Given the description of an element on the screen output the (x, y) to click on. 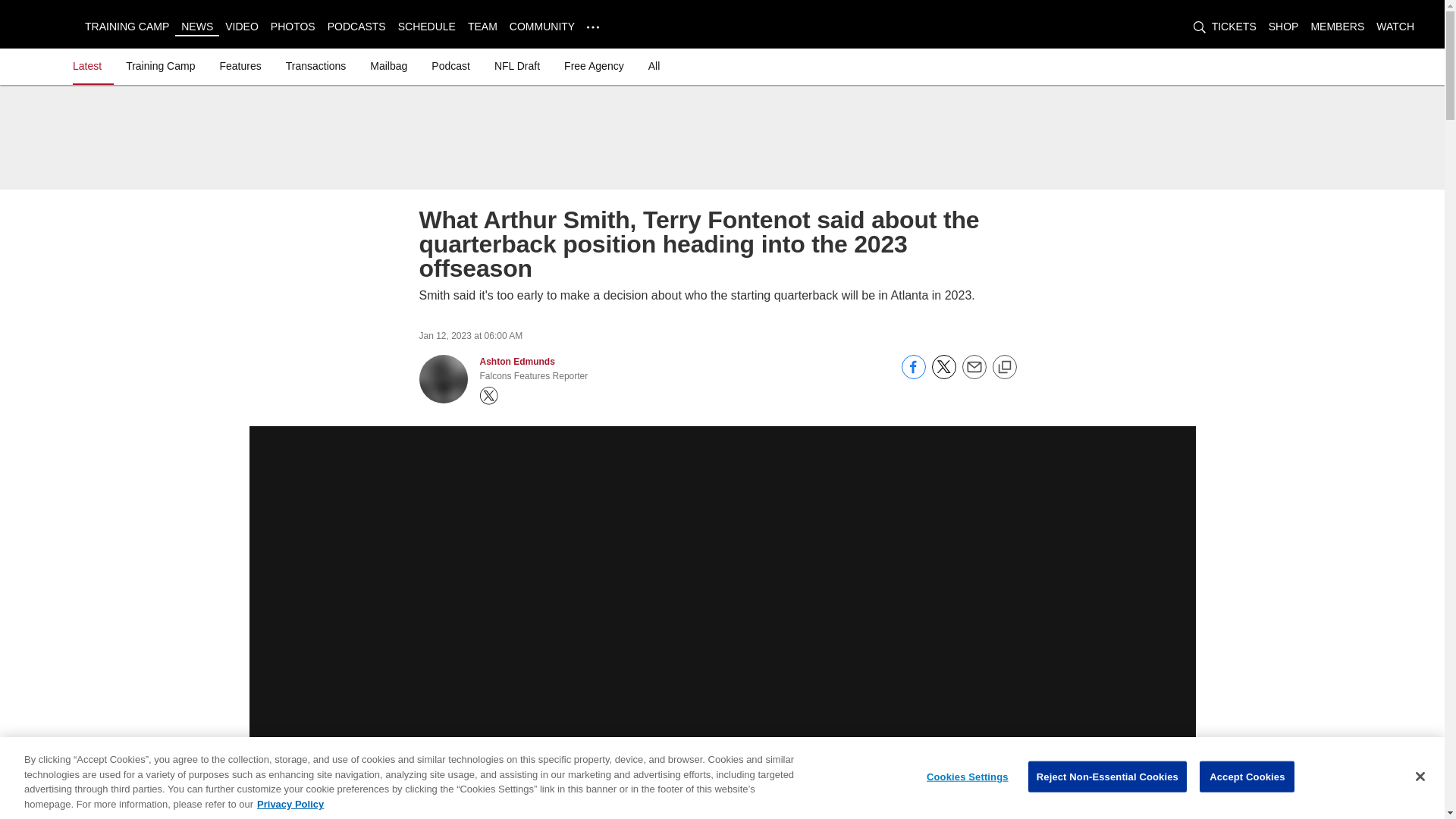
NEWS (196, 25)
MEMBERS (1337, 25)
PHOTOS (292, 25)
Latest (89, 65)
TICKETS (1233, 25)
PODCASTS (356, 25)
COMMUNITY (542, 25)
Transactions (315, 65)
Features (239, 65)
Mailbag (388, 65)
